Given the description of an element on the screen output the (x, y) to click on. 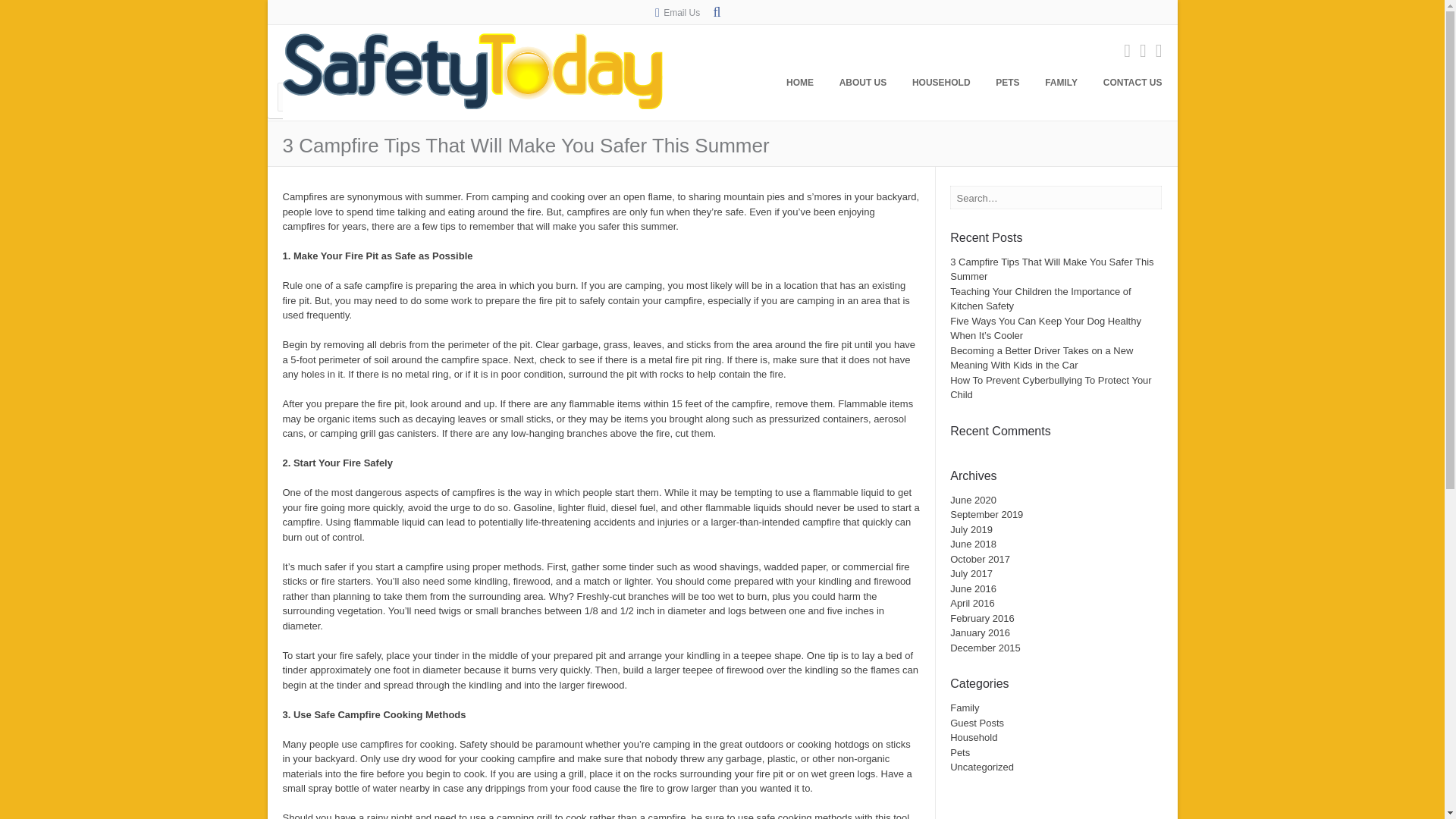
How To Prevent Cyberbullying To Protect Your Child (1050, 387)
FAMILY (1061, 86)
July 2017 (971, 573)
HOUSEHOLD (941, 86)
PETS (1007, 86)
Guest Posts (977, 722)
Email Us (681, 12)
April 2016 (972, 603)
